Given the description of an element on the screen output the (x, y) to click on. 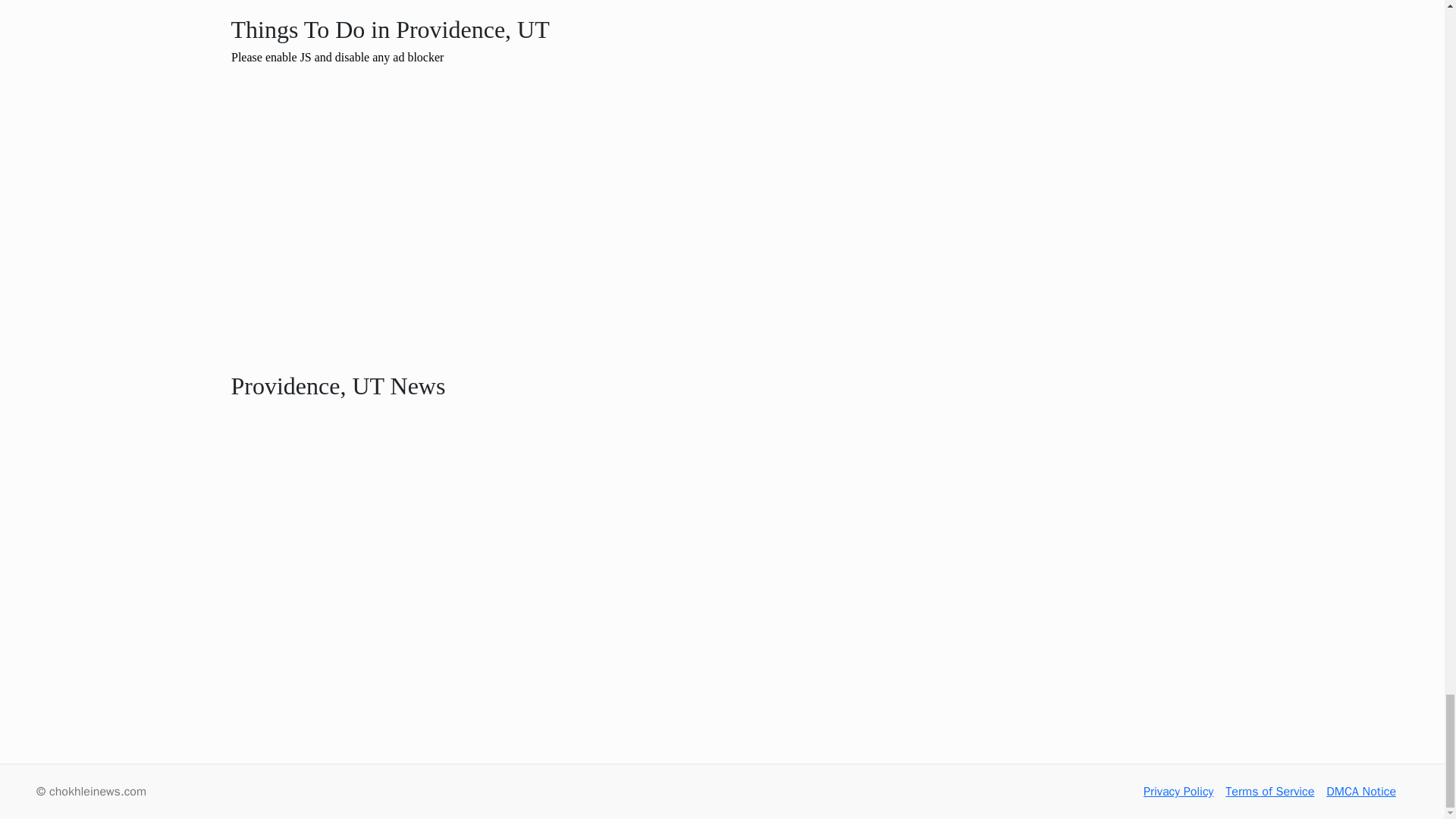
Privacy Policy (1177, 791)
DMCA Notice (1361, 791)
Terms of Service (1269, 791)
